Given the description of an element on the screen output the (x, y) to click on. 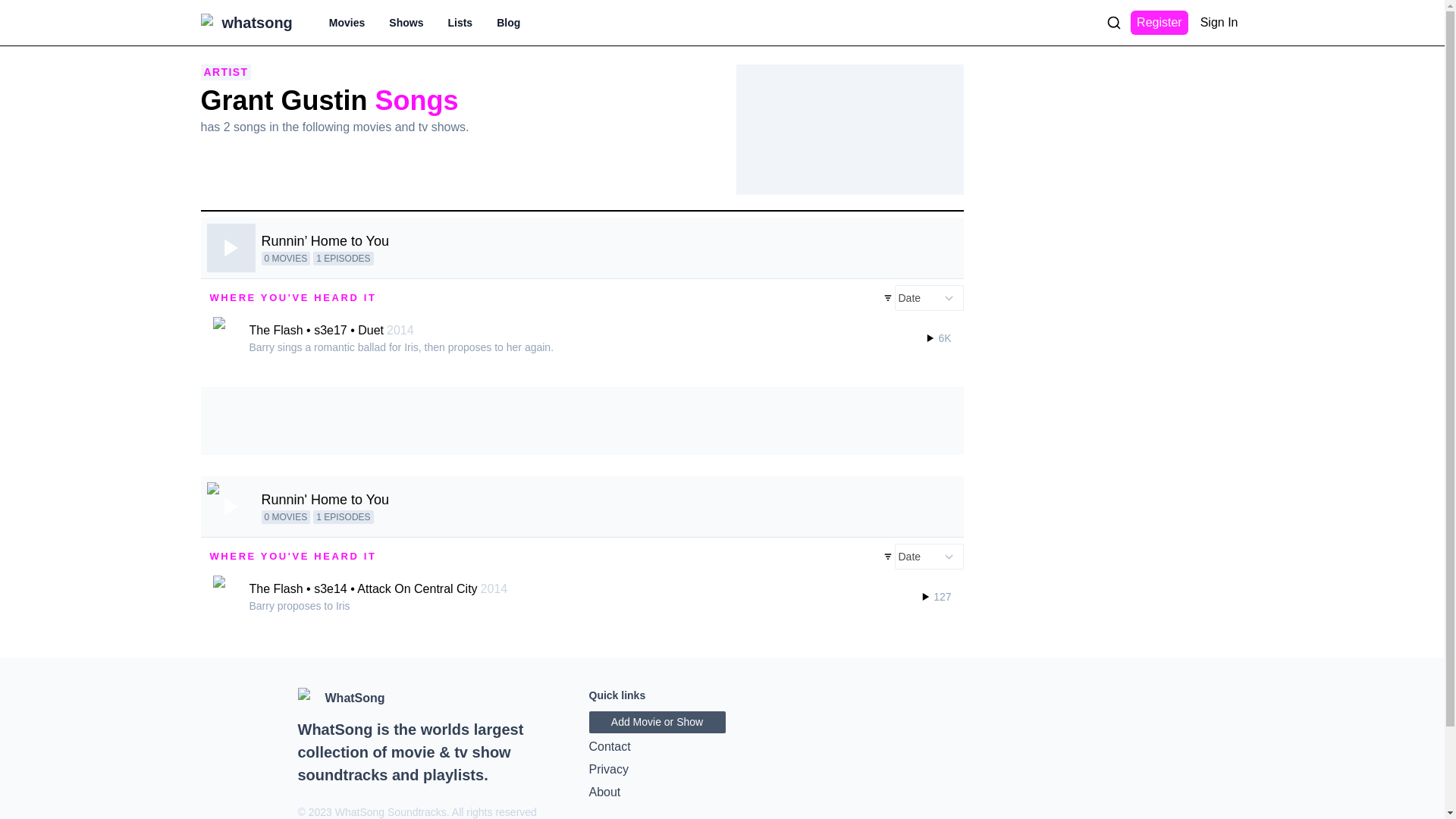
Contact (722, 746)
Blog (507, 23)
whatsong (256, 22)
Runnin' Home to You (324, 499)
Privacy (722, 769)
Register (1159, 22)
Sign In (1218, 22)
Add Movie or Show (656, 722)
About (722, 791)
